Given the description of an element on the screen output the (x, y) to click on. 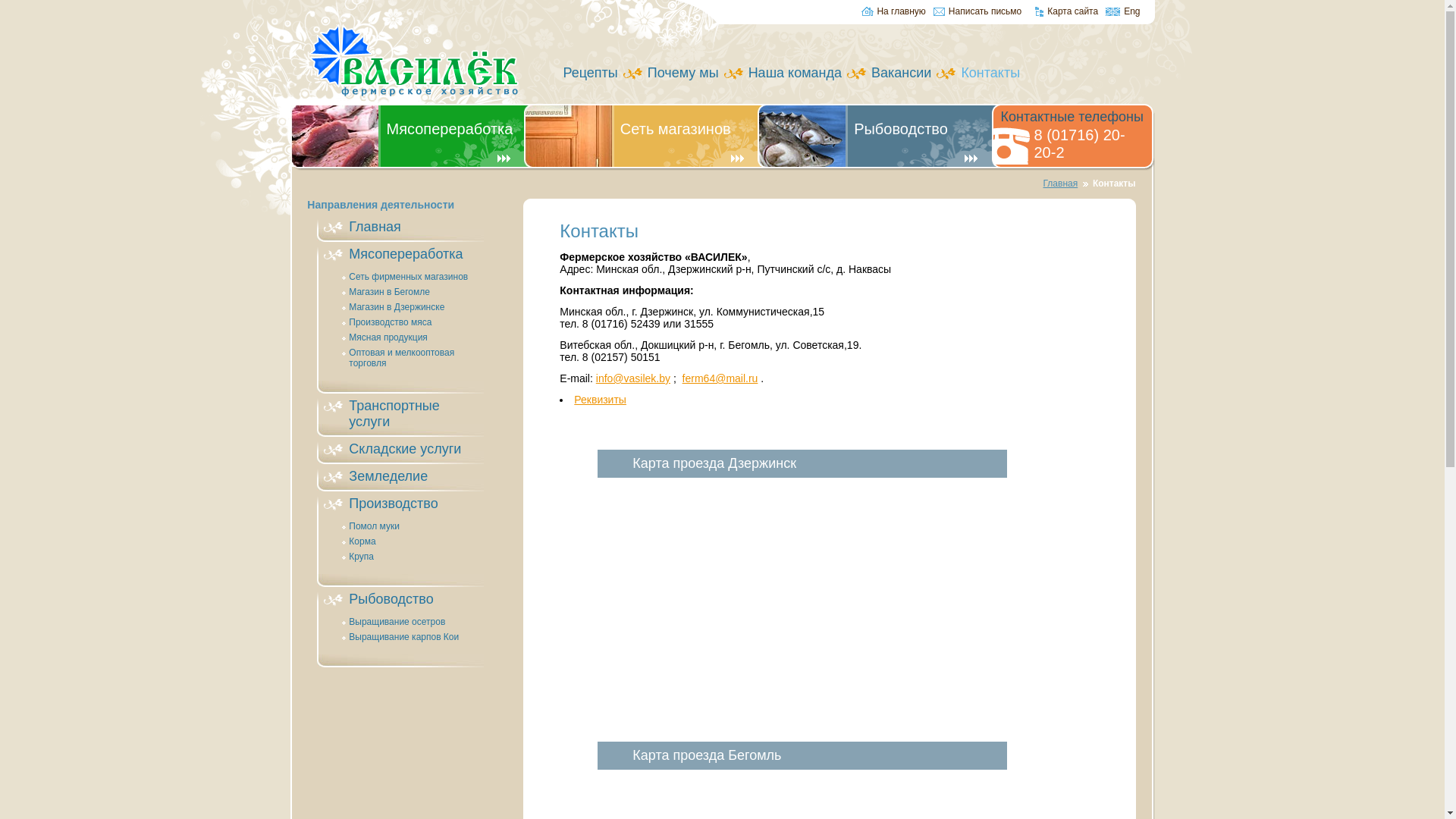
Eng Element type: text (1122, 12)
ferm64@mail.ru Element type: text (720, 378)
info@vasilek.by Element type: text (633, 378)
